Given the description of an element on the screen output the (x, y) to click on. 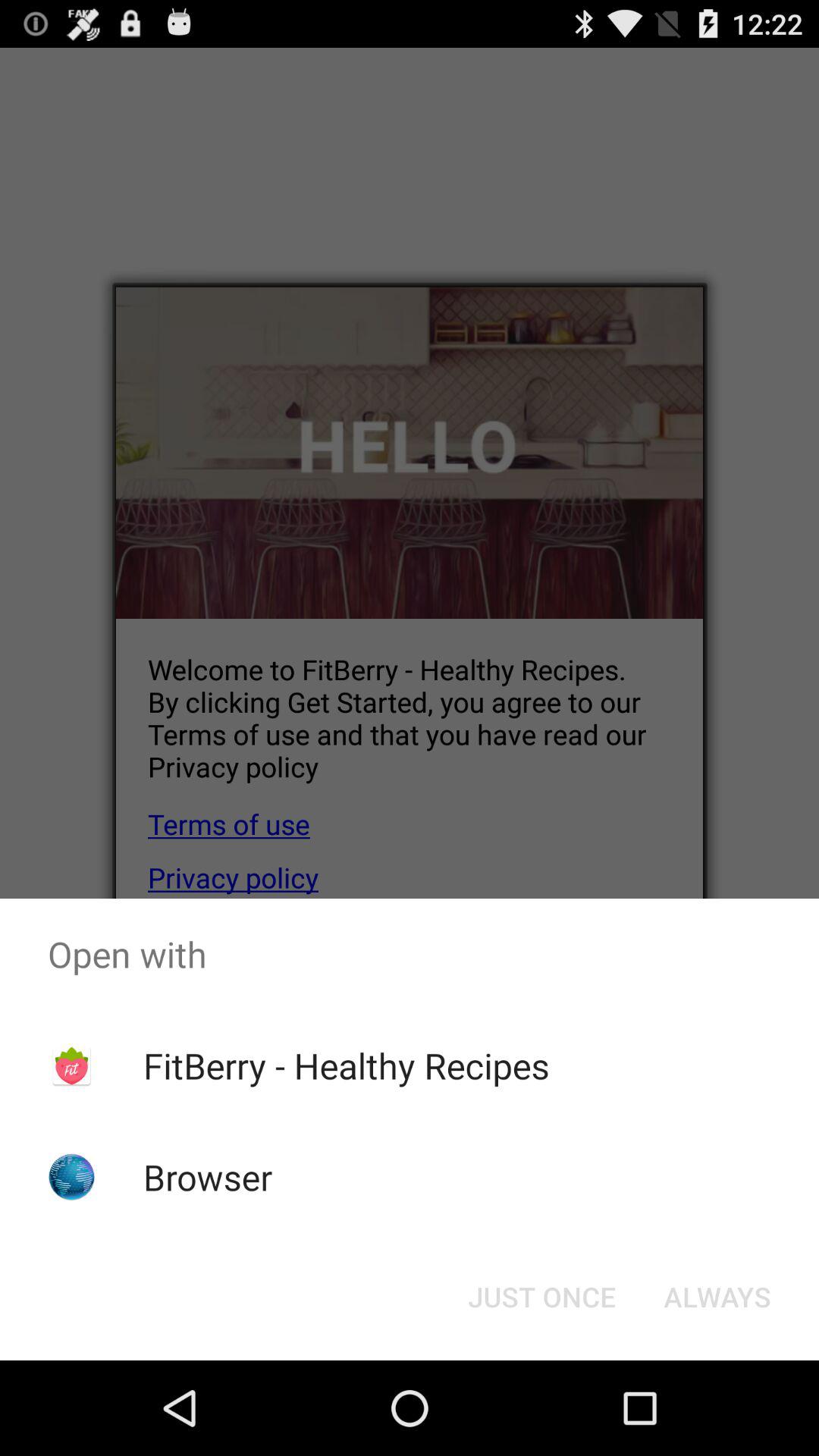
choose the always item (717, 1296)
